Given the description of an element on the screen output the (x, y) to click on. 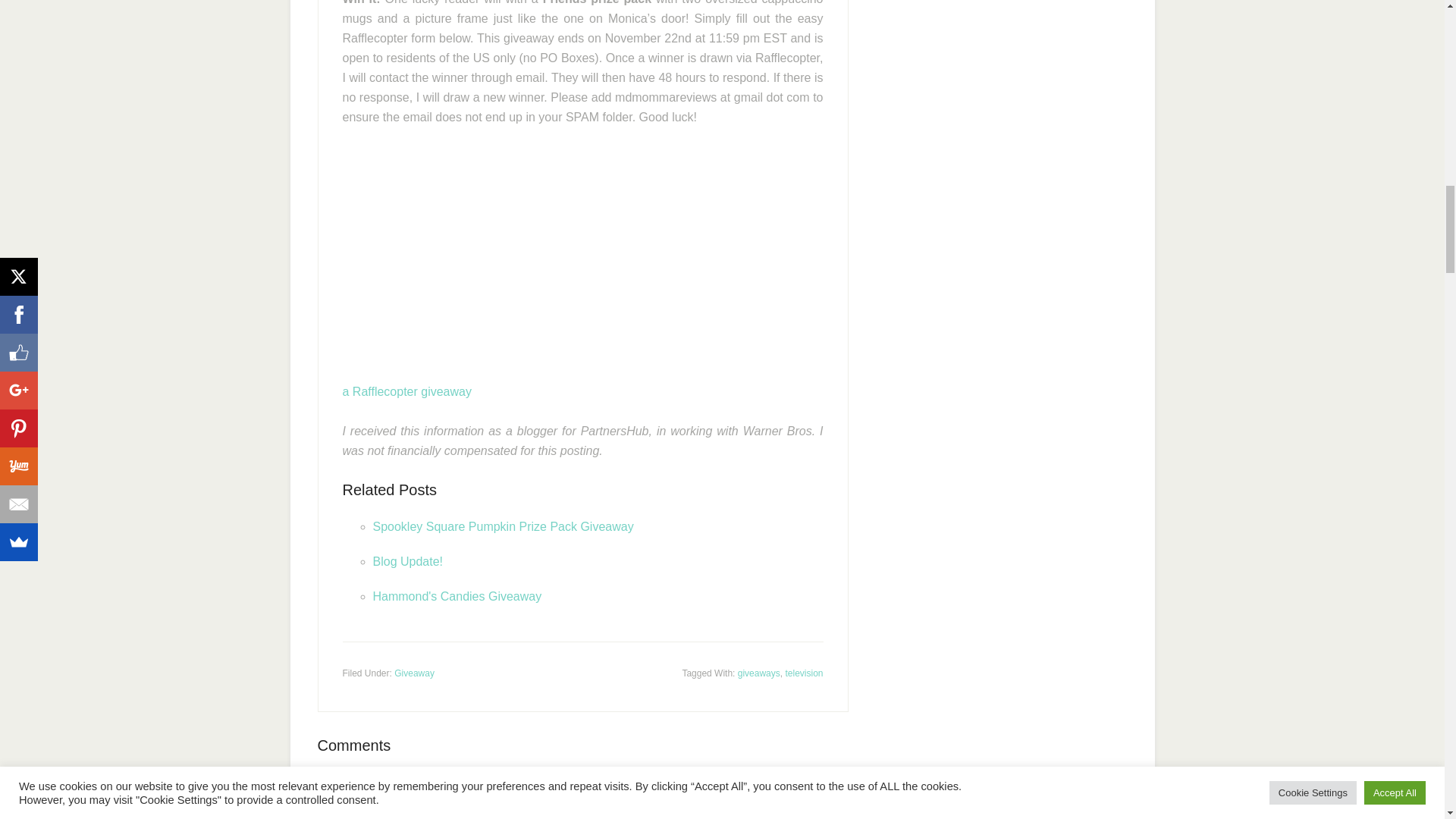
Hammond's Candies Giveaway (456, 595)
Blog Update! (408, 561)
Giveaway (413, 672)
Spookley Square Pumpkin Prize Pack Giveaway (502, 526)
television (803, 672)
giveaways (759, 672)
a Rafflecopter giveaway (406, 391)
